Given the description of an element on the screen output the (x, y) to click on. 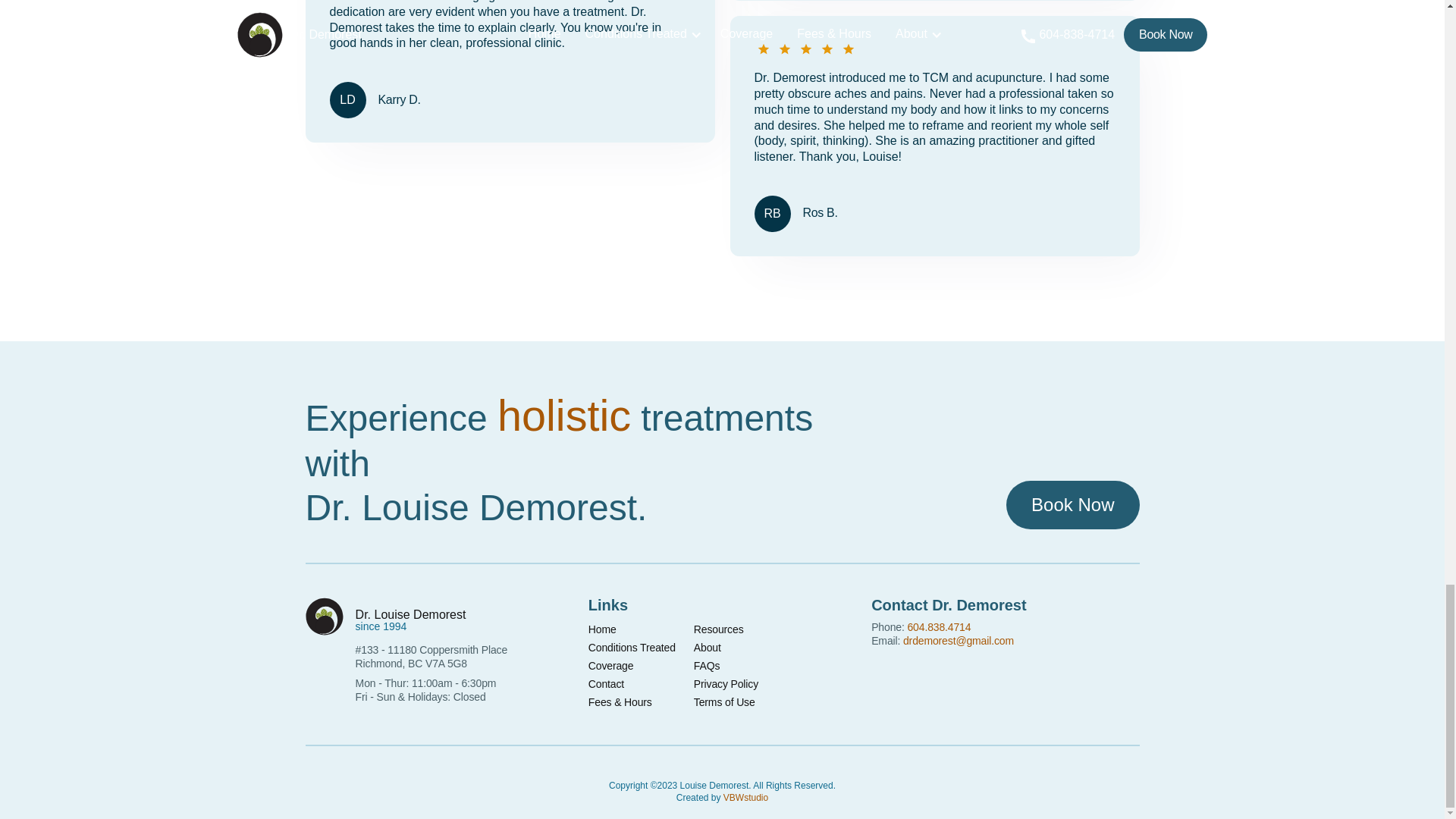
Home (601, 628)
FAQs (706, 665)
Book Now (1072, 504)
Privacy Policy (726, 683)
604.838.4714 (939, 626)
Terms of Use (724, 701)
Conditions Treated (631, 647)
Contact (606, 683)
Resources (719, 628)
Coverage (610, 665)
